Given the description of an element on the screen output the (x, y) to click on. 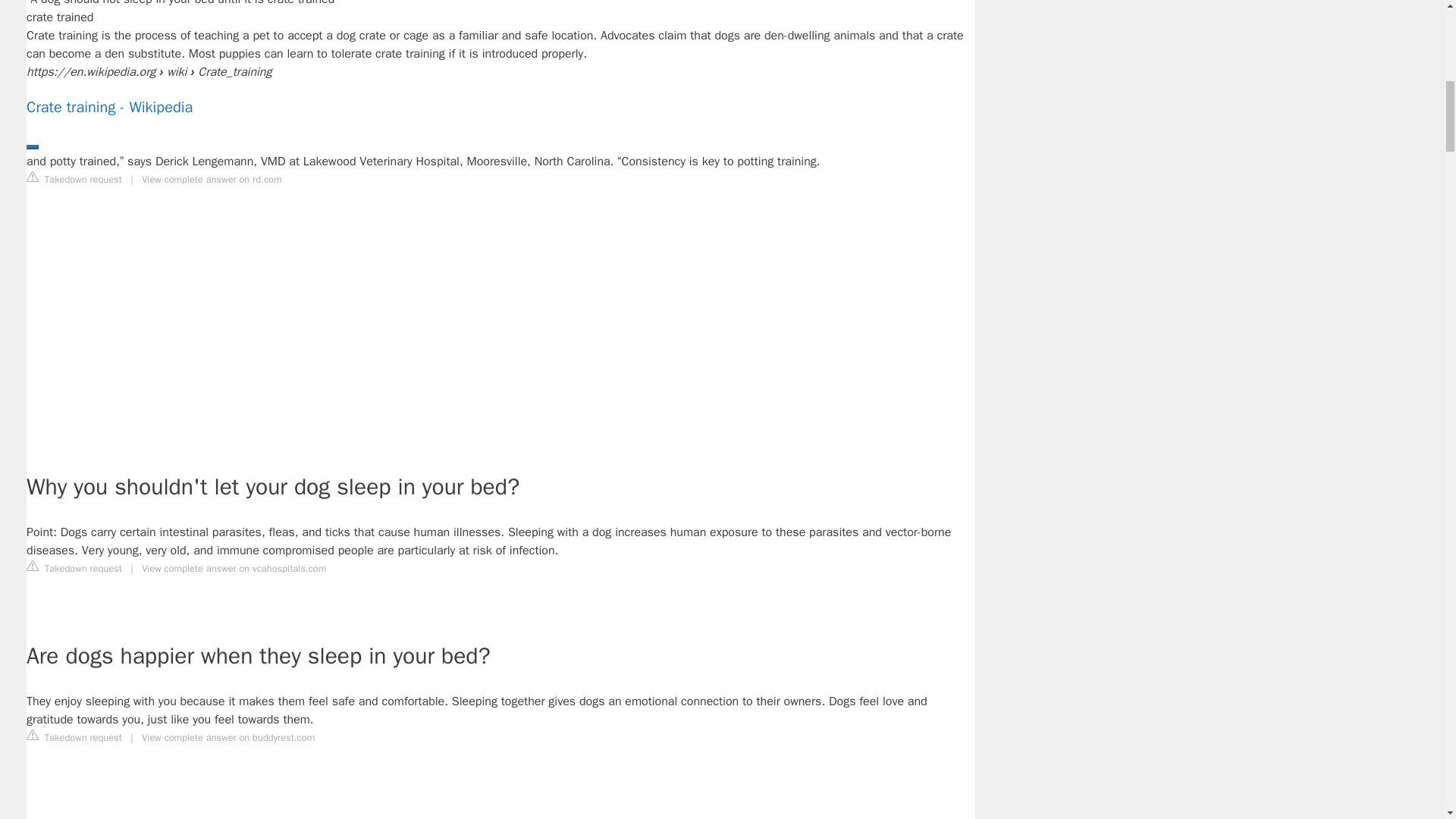
Takedown request (74, 567)
Crate training - Wikipedia (500, 107)
View complete answer on buddyrest.com (227, 737)
View complete answer on rd.com (211, 179)
Takedown request (74, 178)
Takedown request (74, 736)
View complete answer on vcahospitals.com (233, 568)
